Given the description of an element on the screen output the (x, y) to click on. 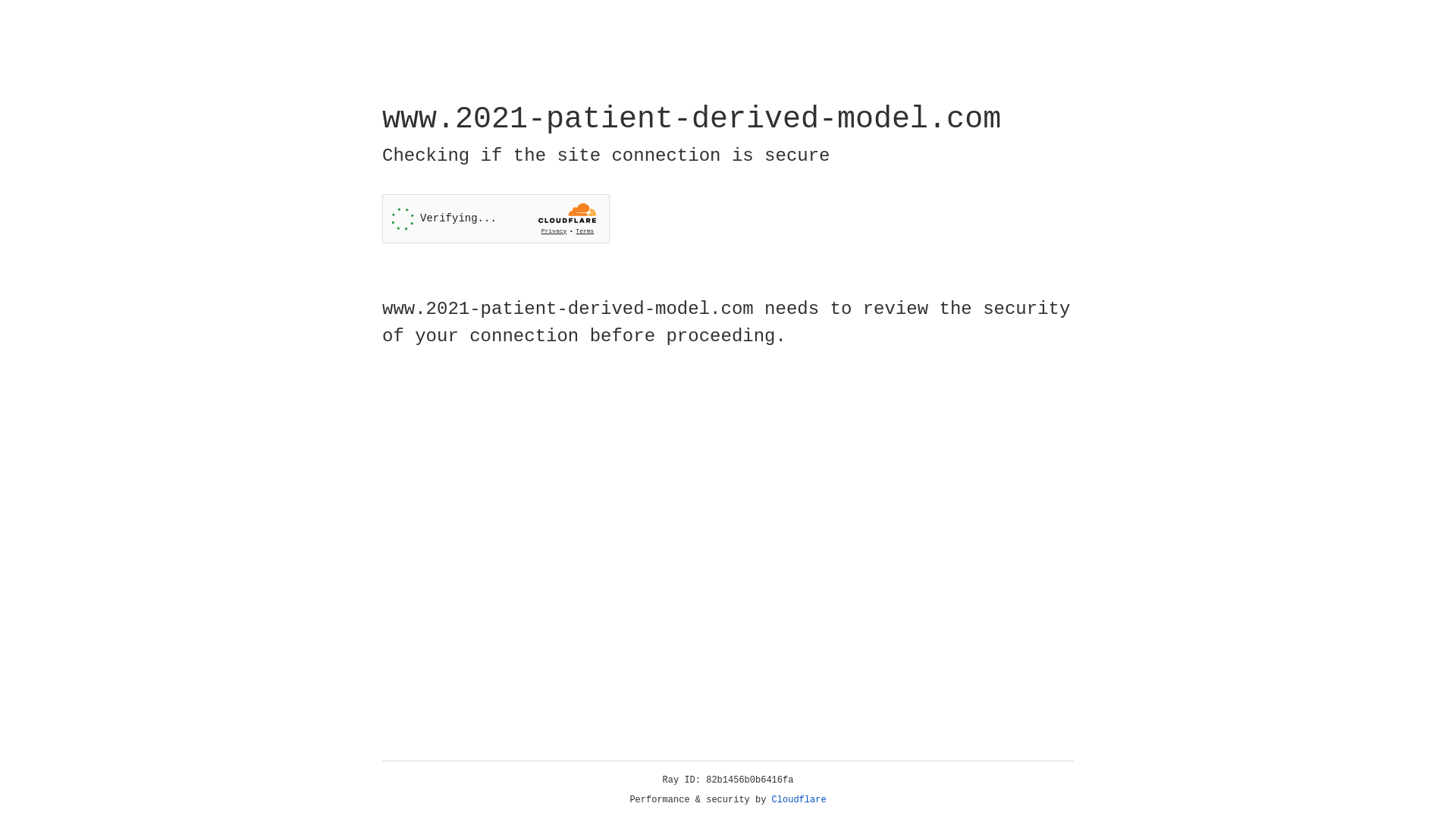
Cloudflare Element type: text (798, 799)
Widget containing a Cloudflare security challenge Element type: hover (495, 218)
